Given the description of an element on the screen output the (x, y) to click on. 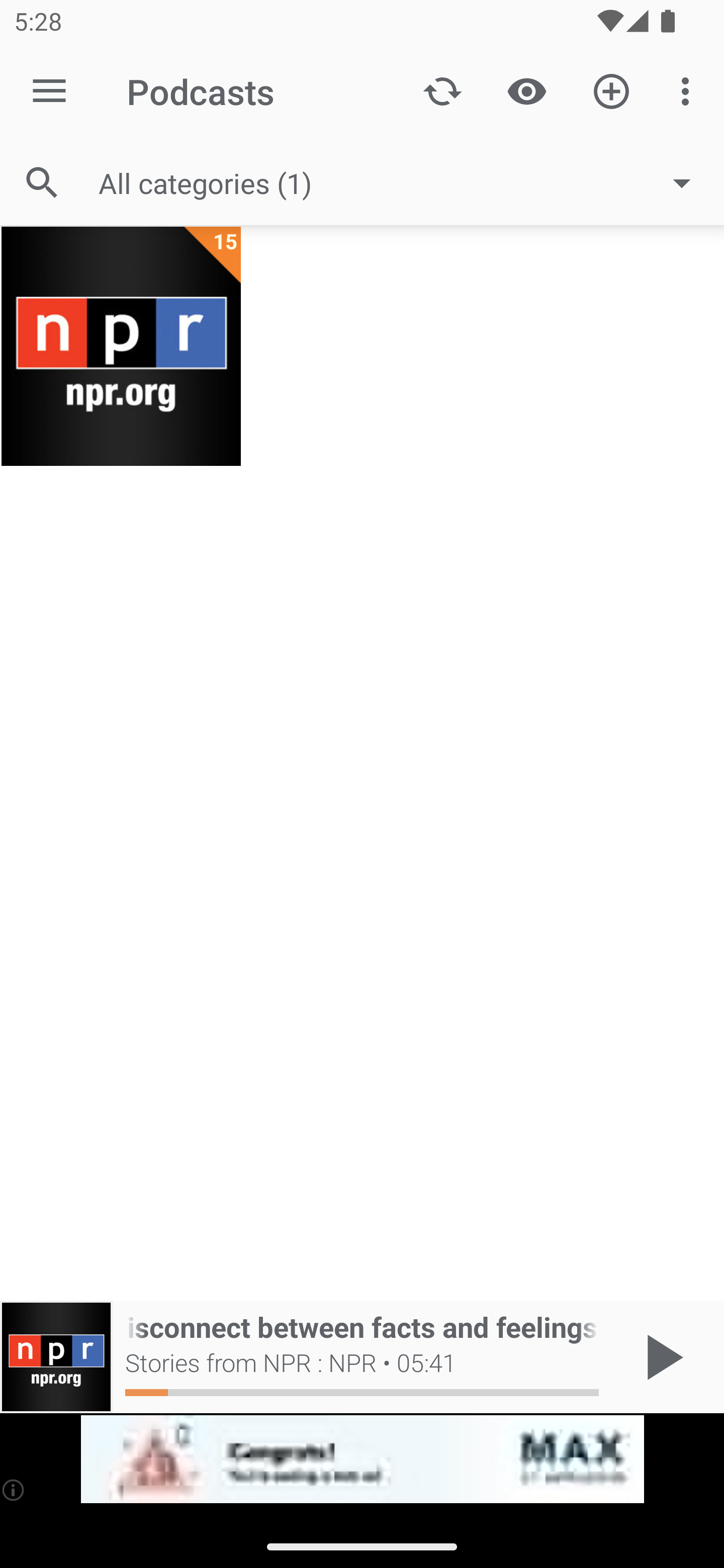
Open navigation sidebar (49, 91)
Update (442, 90)
Show / Hide played content (526, 90)
Add new Podcast (611, 90)
More options (688, 90)
Search (42, 183)
All categories (1) (404, 182)
Stories from NPR : NPR 15 (121, 346)
Play / Pause (660, 1356)
app-monetization (362, 1459)
(i) (14, 1489)
